Given the description of an element on the screen output the (x, y) to click on. 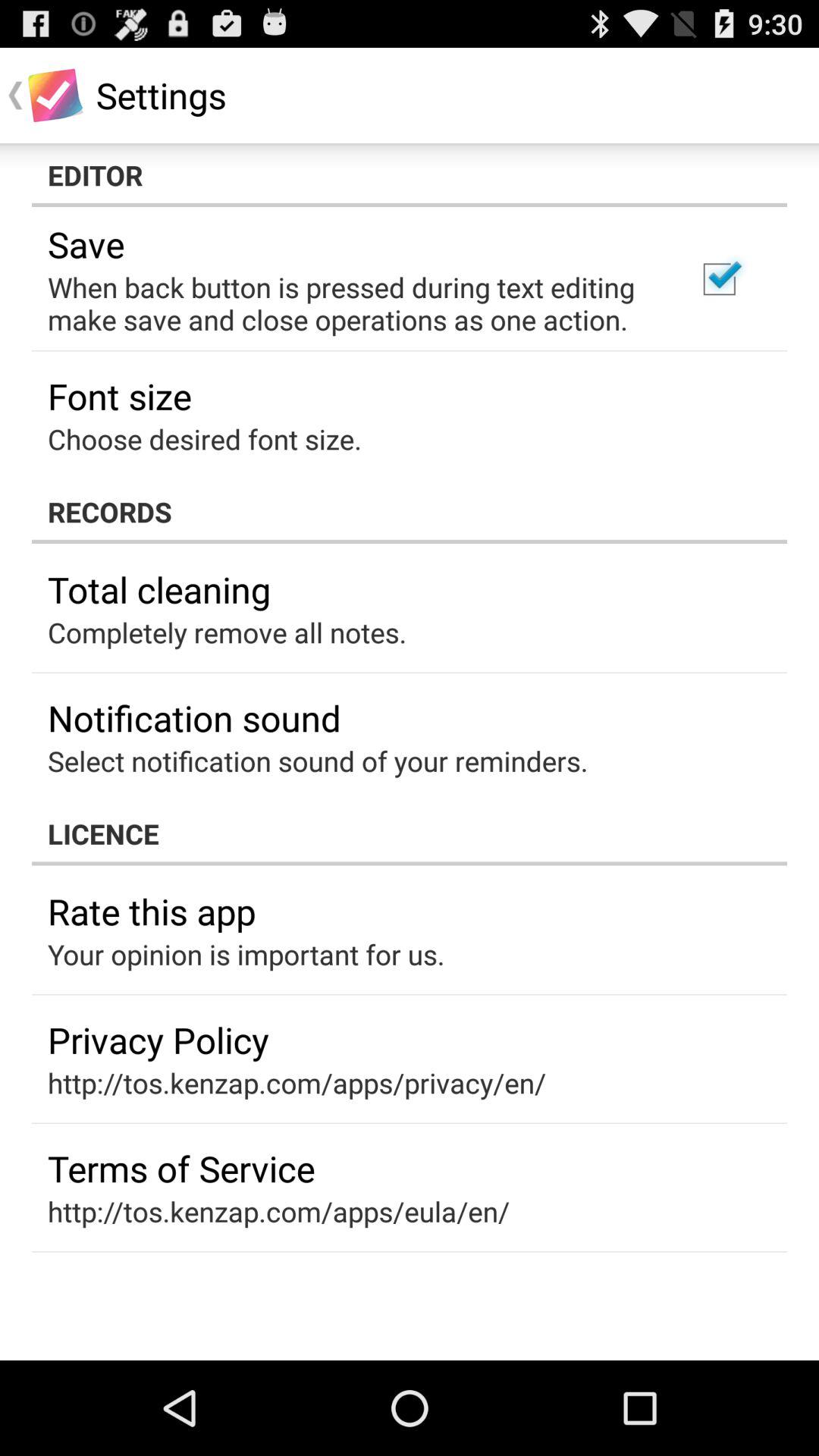
turn off item next to when back button icon (719, 279)
